Given the description of an element on the screen output the (x, y) to click on. 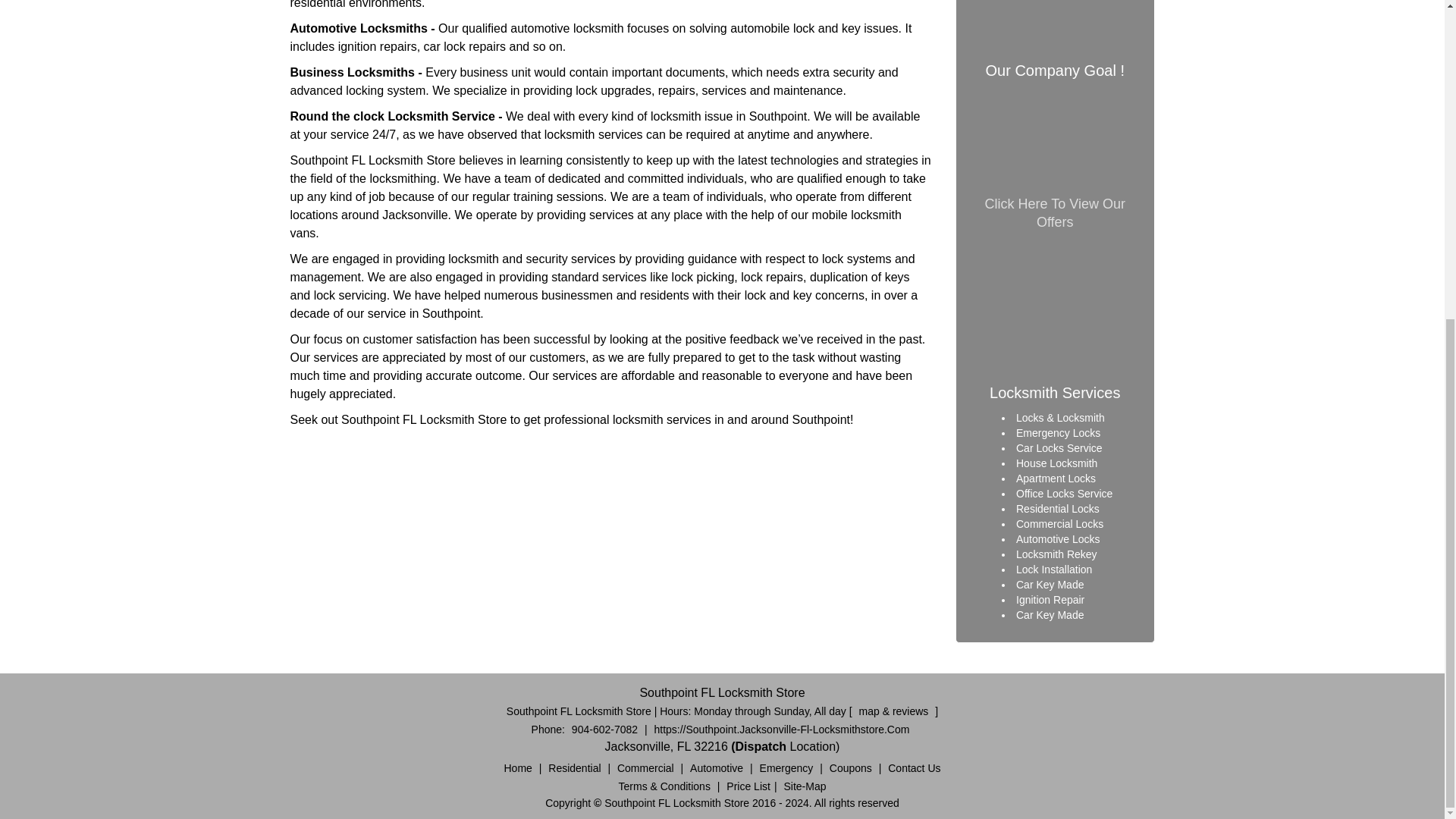
Coupons (850, 767)
904-602-7082 (604, 729)
Commercial (645, 767)
Price List (748, 786)
Contact Us (913, 767)
Residential (574, 767)
Automotive (715, 767)
Emergency (785, 767)
Home (517, 767)
Site-Map (803, 786)
